Given the description of an element on the screen output the (x, y) to click on. 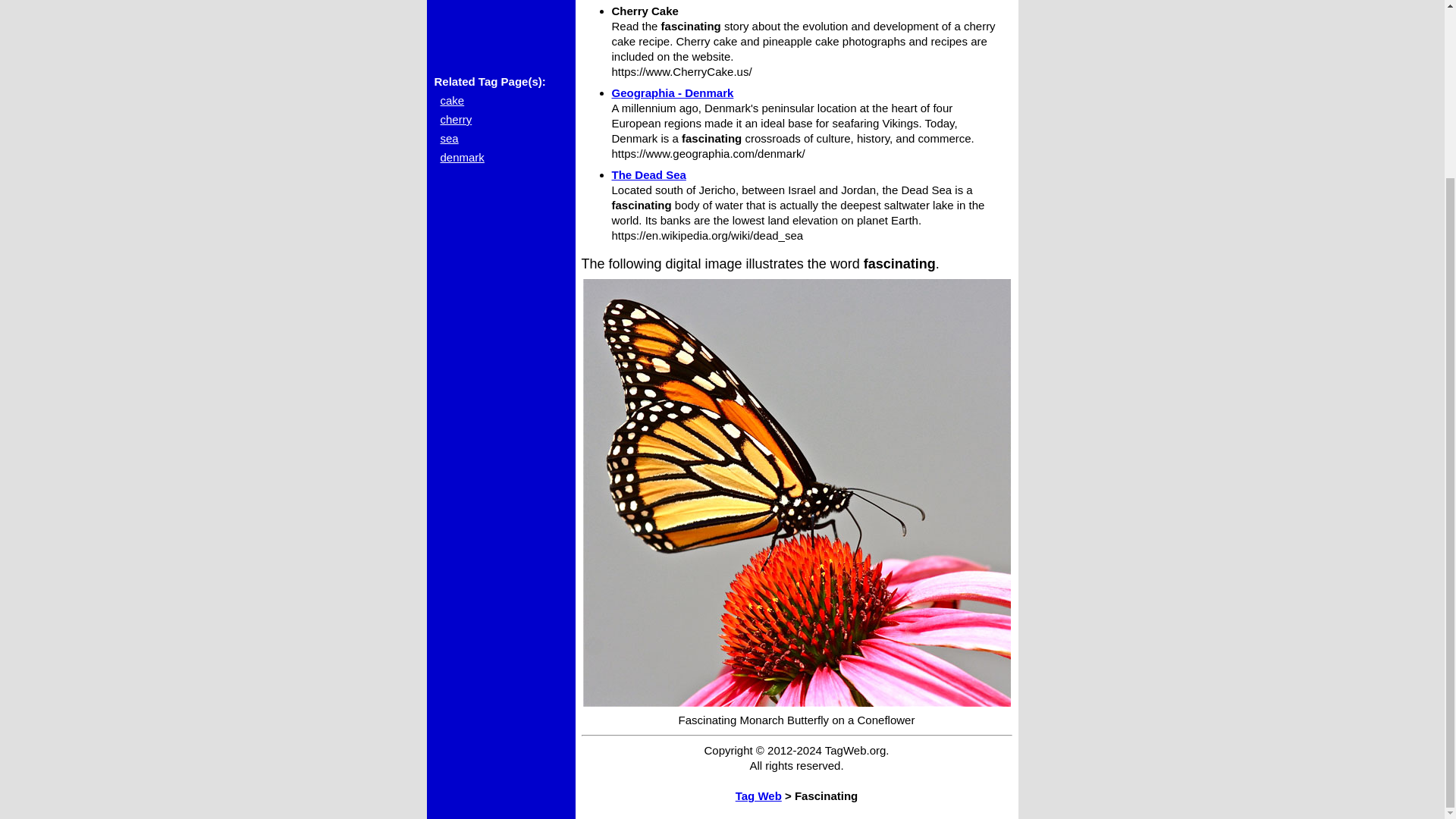
Tag Web (758, 795)
The Dead Sea (648, 174)
Geographia - Denmark (672, 92)
